Given the description of an element on the screen output the (x, y) to click on. 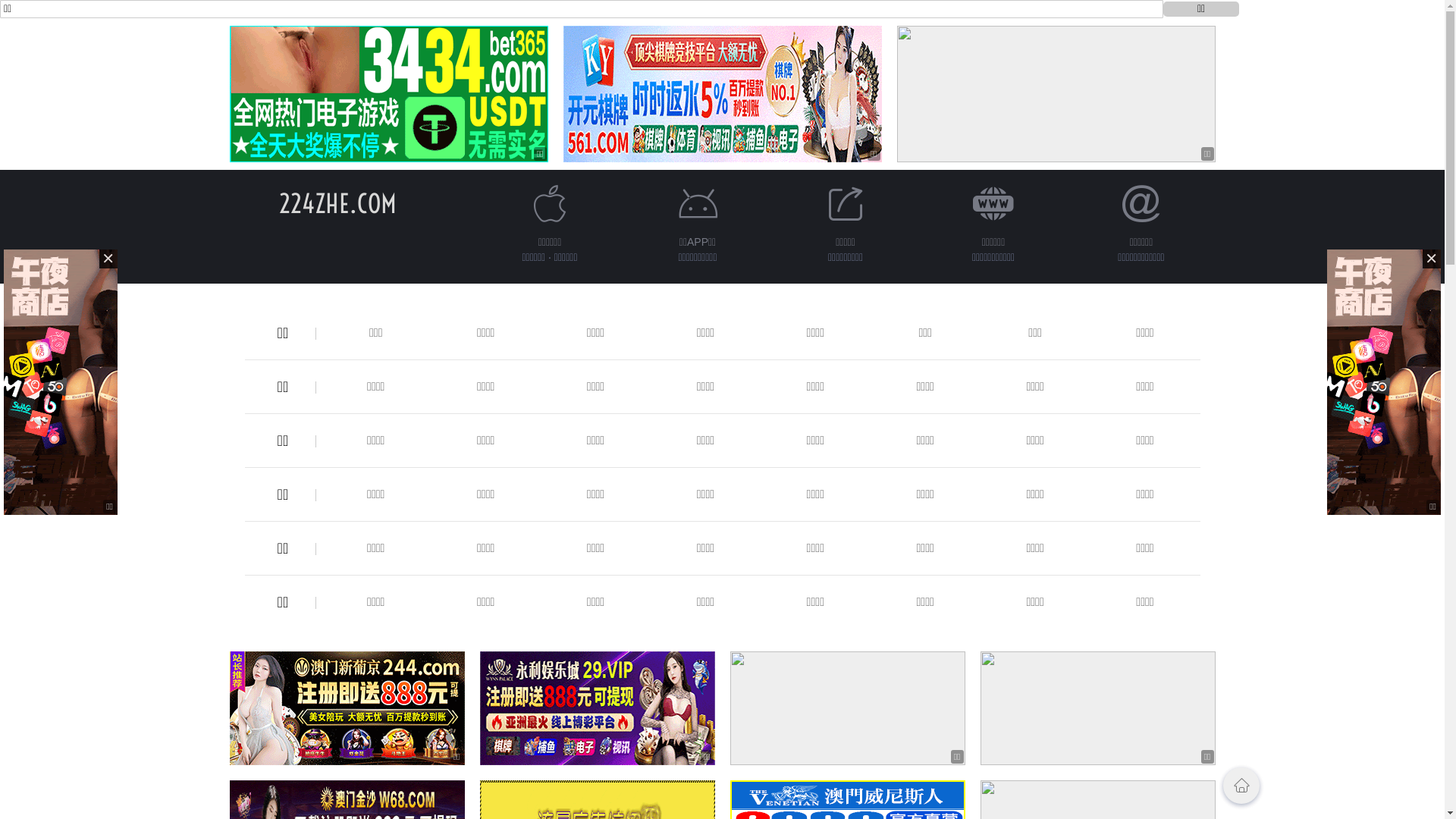
224ZHE.COM Element type: text (337, 203)
